Given the description of an element on the screen output the (x, y) to click on. 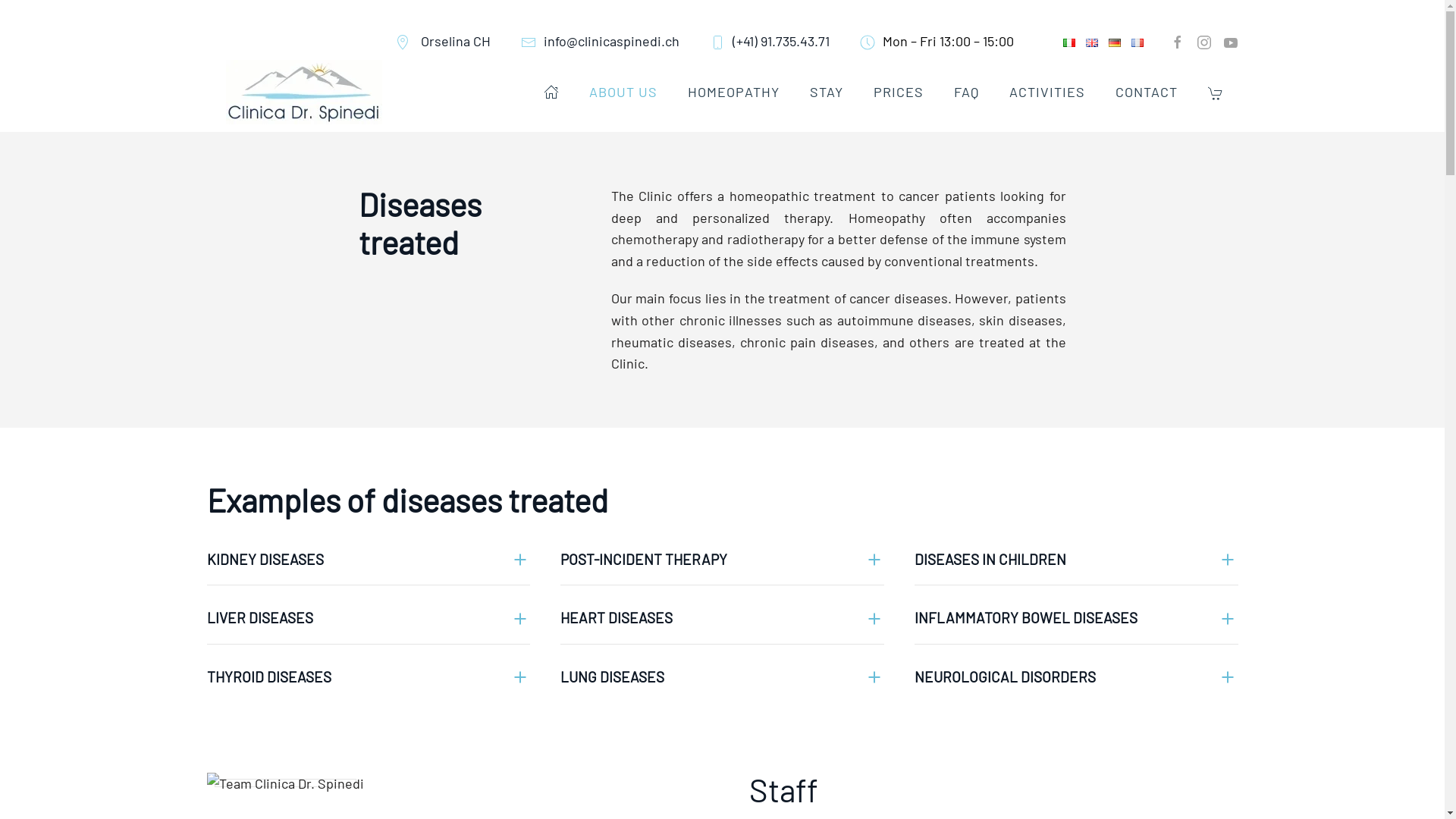
NEUROLOGICAL DISORDERS Element type: text (1076, 677)
FAQ Element type: text (966, 91)
LUNG DISEASES Element type: text (722, 677)
LIVER DISEASES Element type: text (368, 618)
CONTACT Element type: text (1145, 91)
STAY Element type: text (826, 91)
info@clinicaspinedi.ch Element type: text (599, 40)
Orselina CH Element type: text (441, 40)
PRICES Element type: text (898, 91)
ACTIVITIES Element type: text (1046, 91)
HEART DISEASES Element type: text (722, 618)
DISEASES IN CHILDREN Element type: text (1076, 559)
INFLAMMATORY BOWEL DISEASES Element type: text (1076, 618)
ABOUT US Element type: text (622, 91)
KIDNEY DISEASES Element type: text (368, 559)
THYROID DISEASES Element type: text (368, 677)
(+41) 91.735.43.71 Element type: text (769, 40)
POST-INCIDENT THERAPY Element type: text (722, 559)
HOMEOPATHY Element type: text (732, 91)
